Given the description of an element on the screen output the (x, y) to click on. 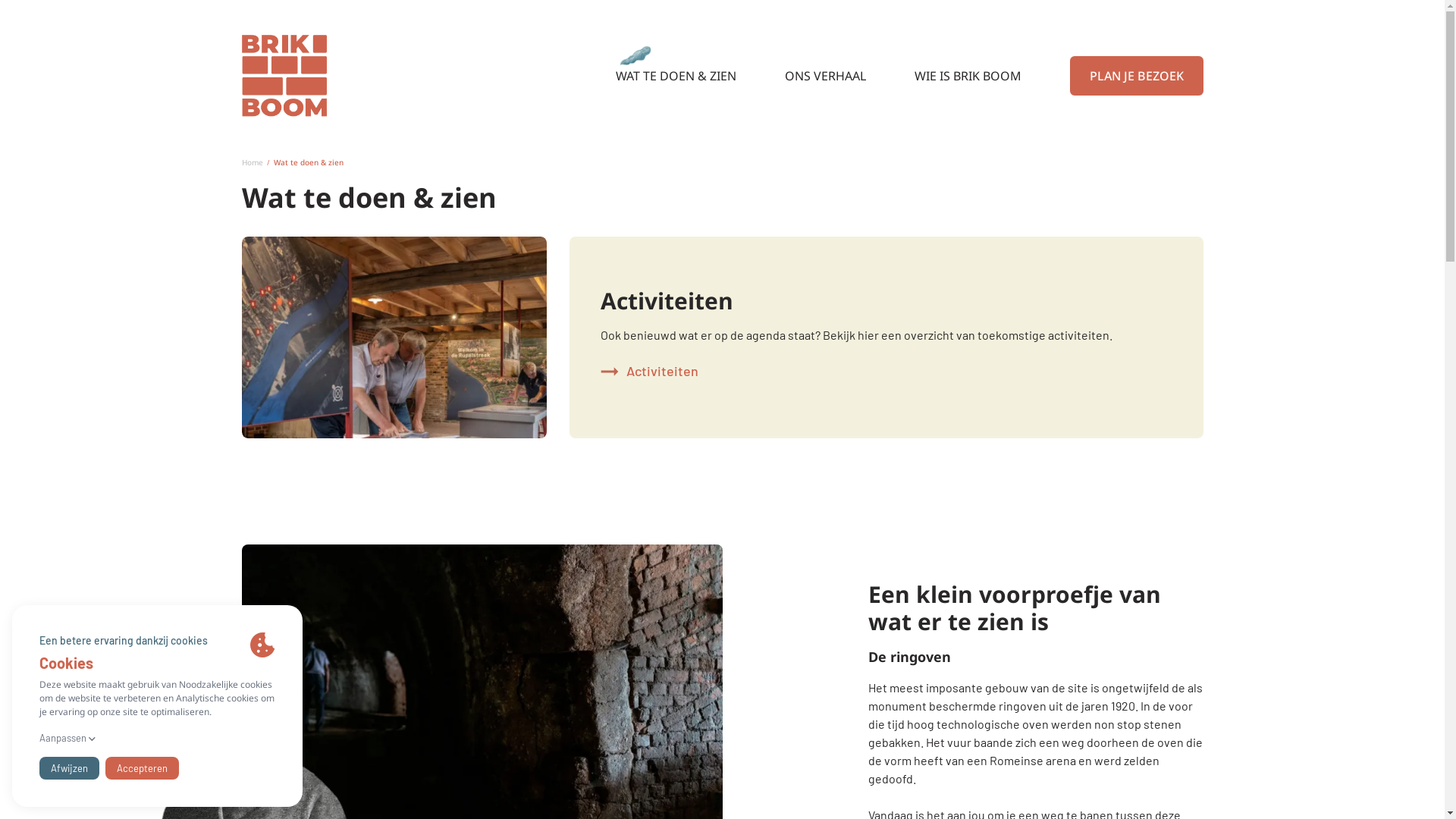
WAT TE DOEN & ZIEN Element type: text (675, 75)
Activiteiten Element type: text (649, 371)
ONS VERHAAL Element type: text (825, 75)
WIE IS BRIK BOOM Element type: text (967, 75)
PLAN JE BEZOEK Element type: text (1135, 75)
Home Element type: text (251, 161)
Wat te doen & zien Element type: text (307, 161)
